Given the description of an element on the screen output the (x, y) to click on. 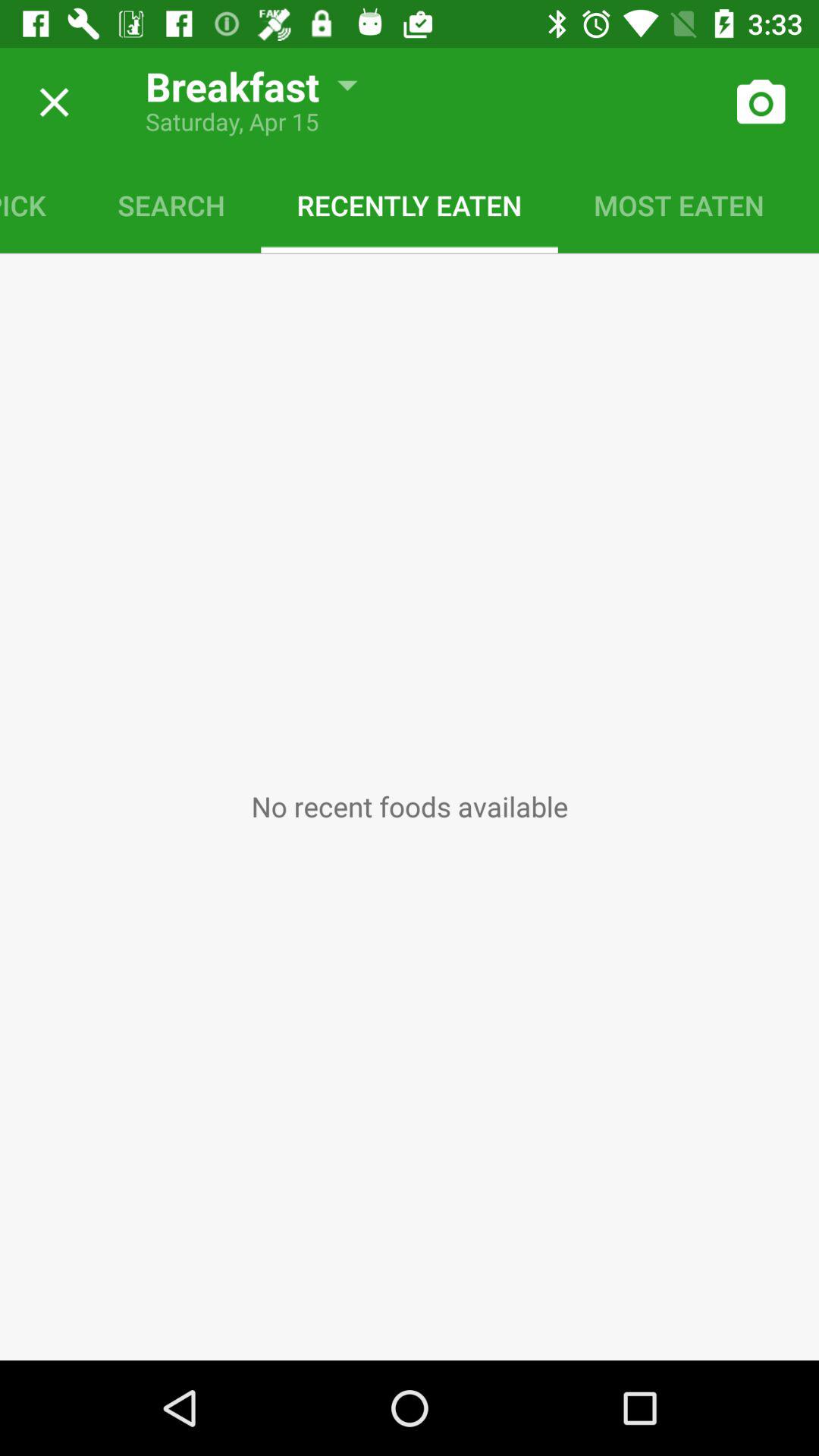
flip to the saved meal icon (809, 205)
